Given the description of an element on the screen output the (x, y) to click on. 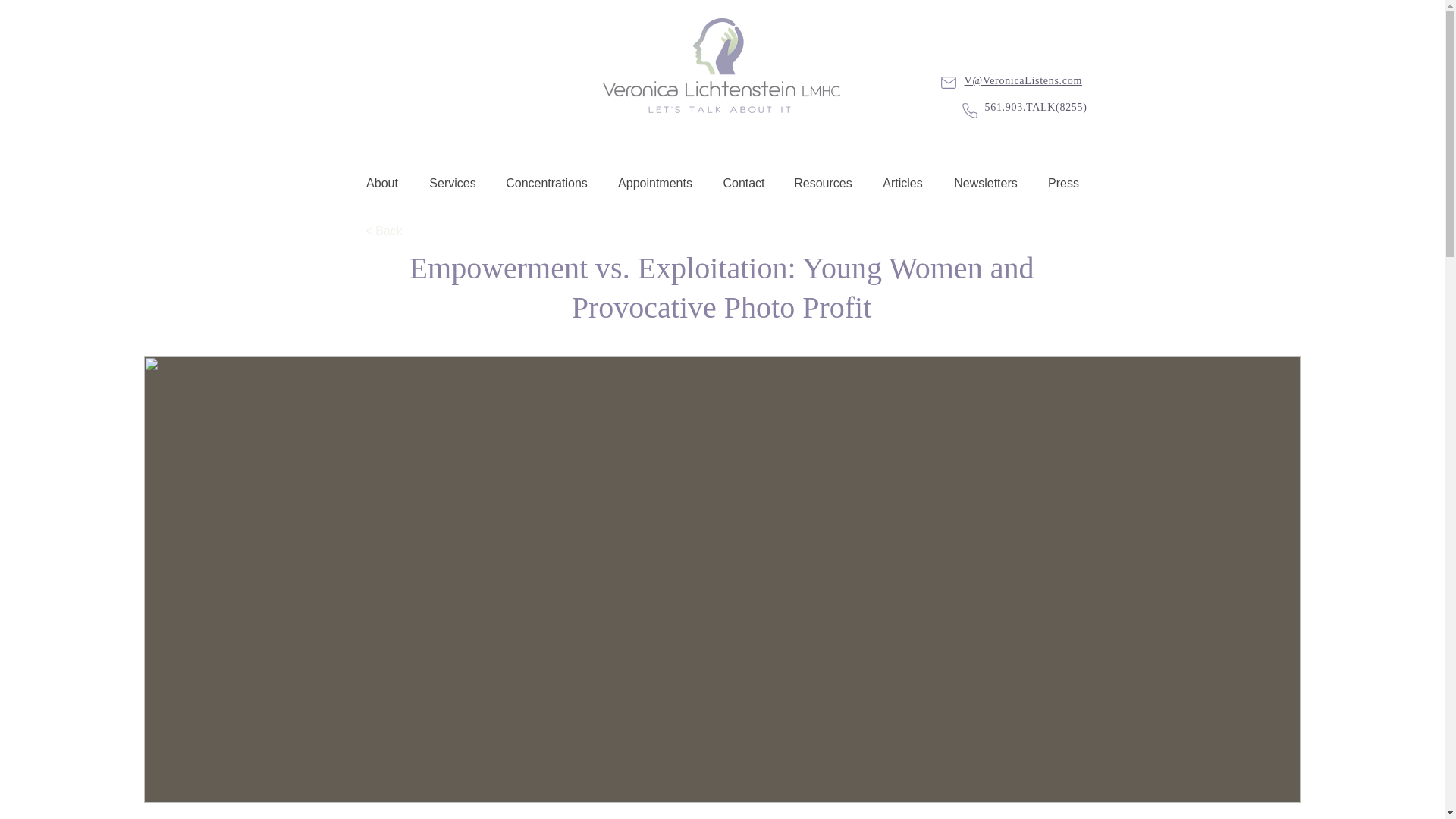
Services (451, 183)
Appointments (654, 183)
Concentrations (546, 183)
Contact (742, 183)
Articles (903, 183)
Resources (822, 183)
About (381, 183)
Press (1062, 183)
Newsletters (985, 183)
